Given the description of an element on the screen output the (x, y) to click on. 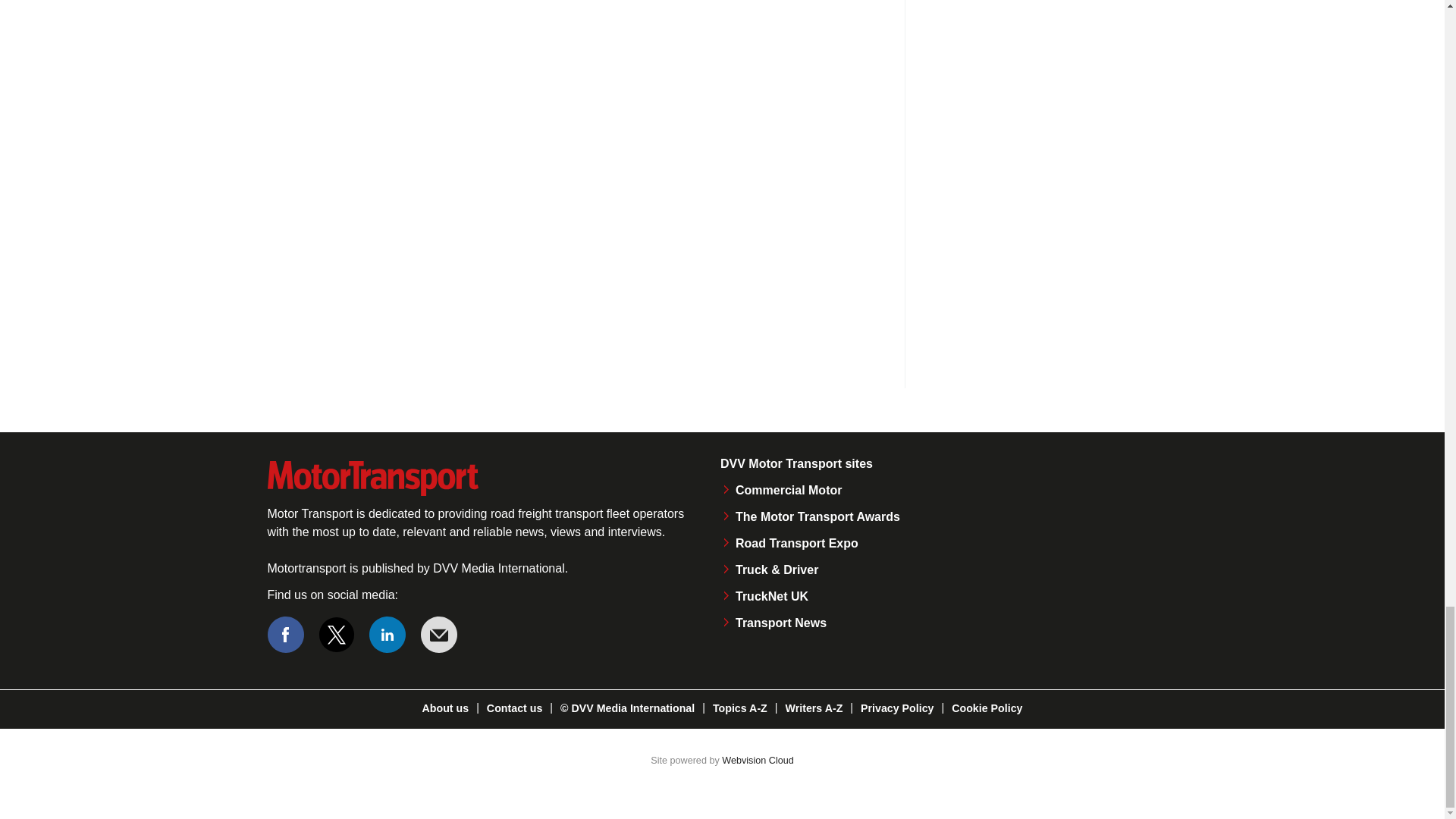
Email us (438, 634)
Connect with us on Facebook (284, 634)
Connect with us on Twitter (336, 634)
Connect with us on Linked in (387, 634)
